Given the description of an element on the screen output the (x, y) to click on. 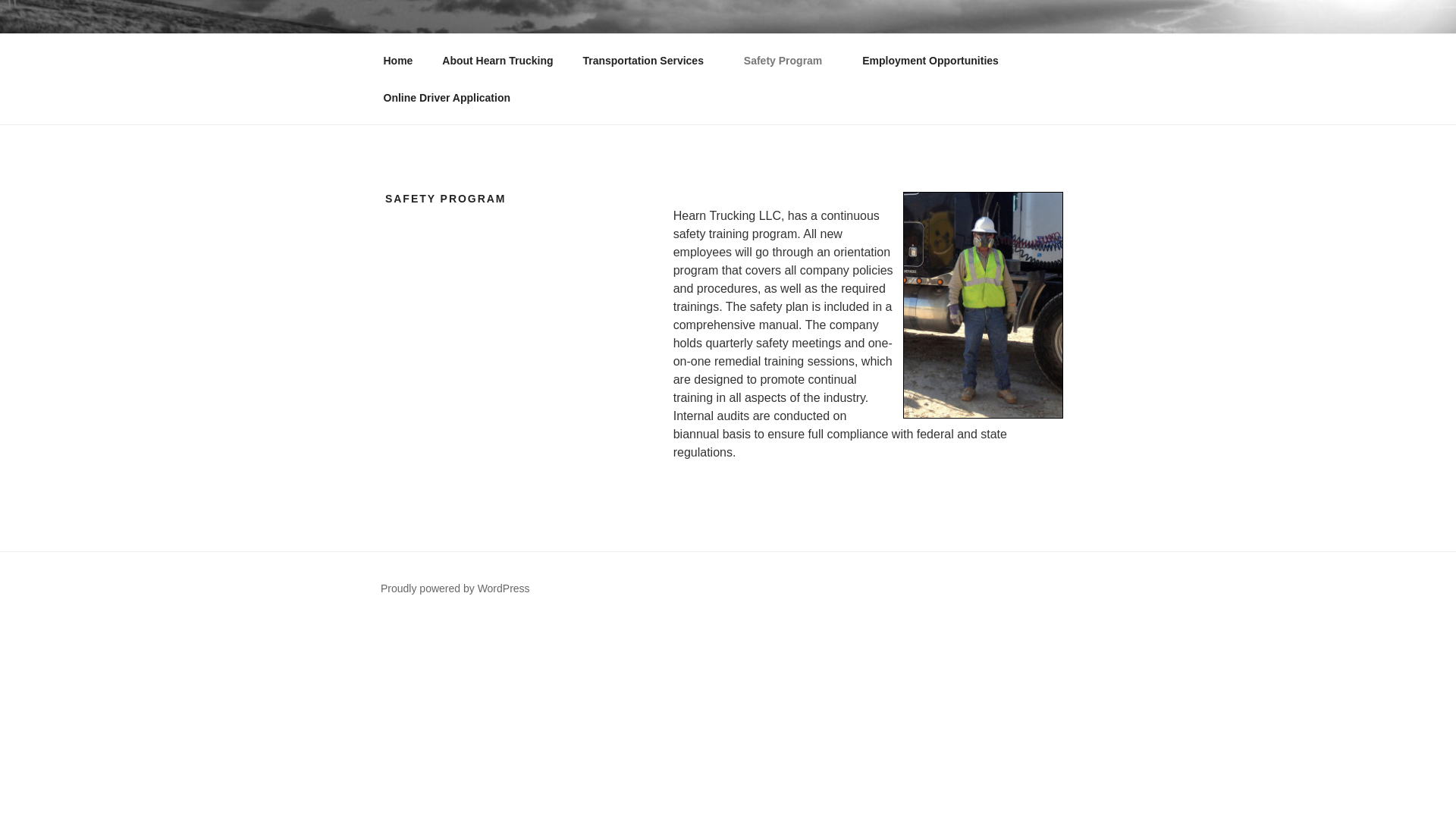
Online Driver Application (446, 97)
Home (397, 60)
Proudly powered by WordPress (454, 588)
HEARN TRUCKING LLC (559, 52)
About Hearn Trucking (497, 60)
Safety Program (787, 60)
Transportation Services (648, 60)
Employment Opportunities (935, 60)
